Given the description of an element on the screen output the (x, y) to click on. 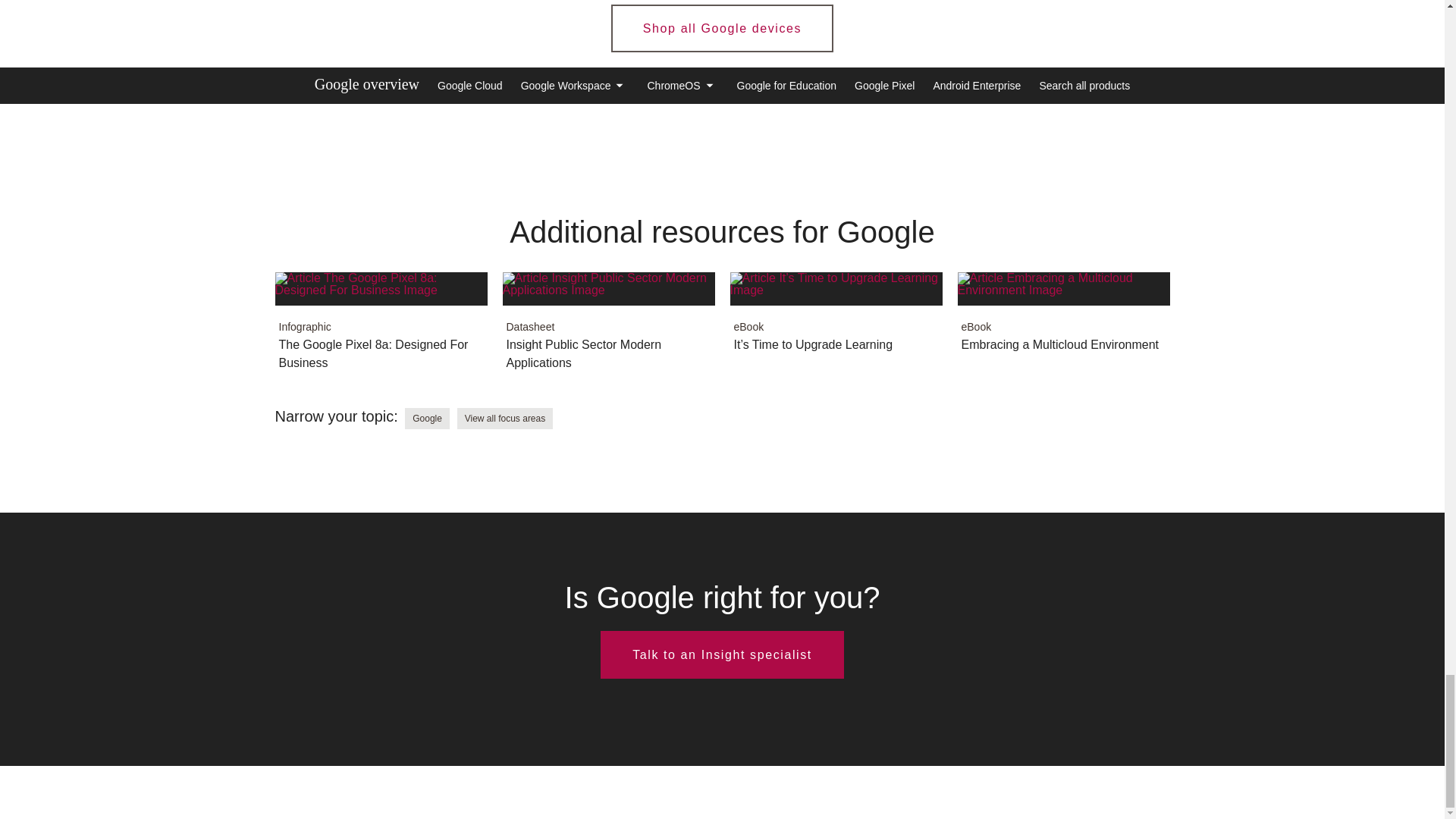
Read more (380, 329)
View all focus areas (1062, 320)
Read more (505, 418)
Google (835, 320)
Read more (426, 418)
Talk to an Insight specialist (608, 329)
Read more (721, 654)
Shop all Google devices (1062, 320)
